Given the description of an element on the screen output the (x, y) to click on. 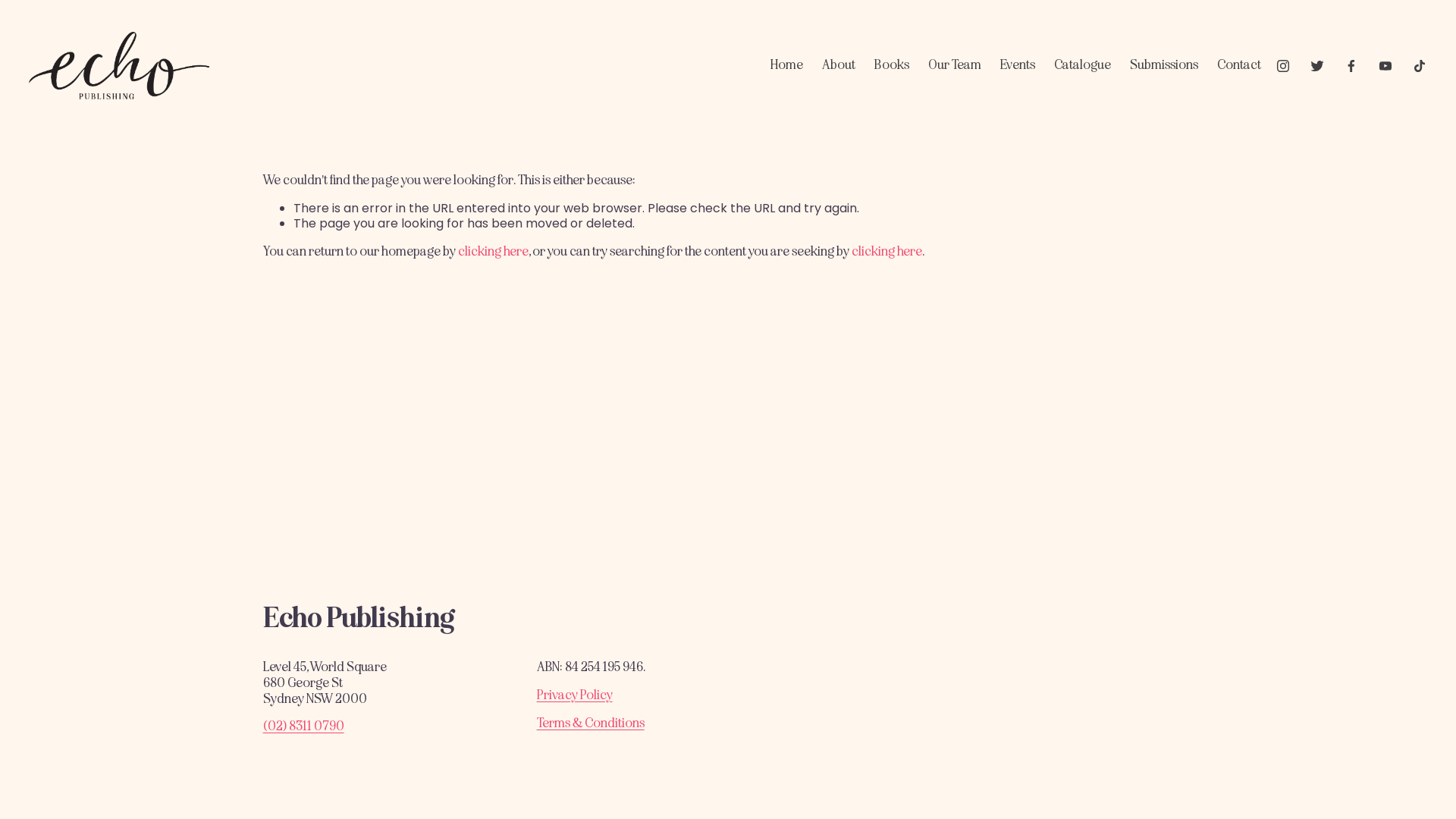
(02) 8311 0790 Element type: text (303, 726)
clicking here Element type: text (493, 251)
Our Team Element type: text (954, 65)
About Element type: text (838, 65)
Home Element type: text (786, 65)
clicking here Element type: text (885, 251)
Books Element type: text (891, 65)
Catalogue Element type: text (1082, 65)
Events Element type: text (1017, 65)
Terms & Conditions Element type: text (590, 723)
Contact Element type: text (1239, 65)
Privacy Policy Element type: text (574, 695)
Submissions Element type: text (1163, 65)
